Given the description of an element on the screen output the (x, y) to click on. 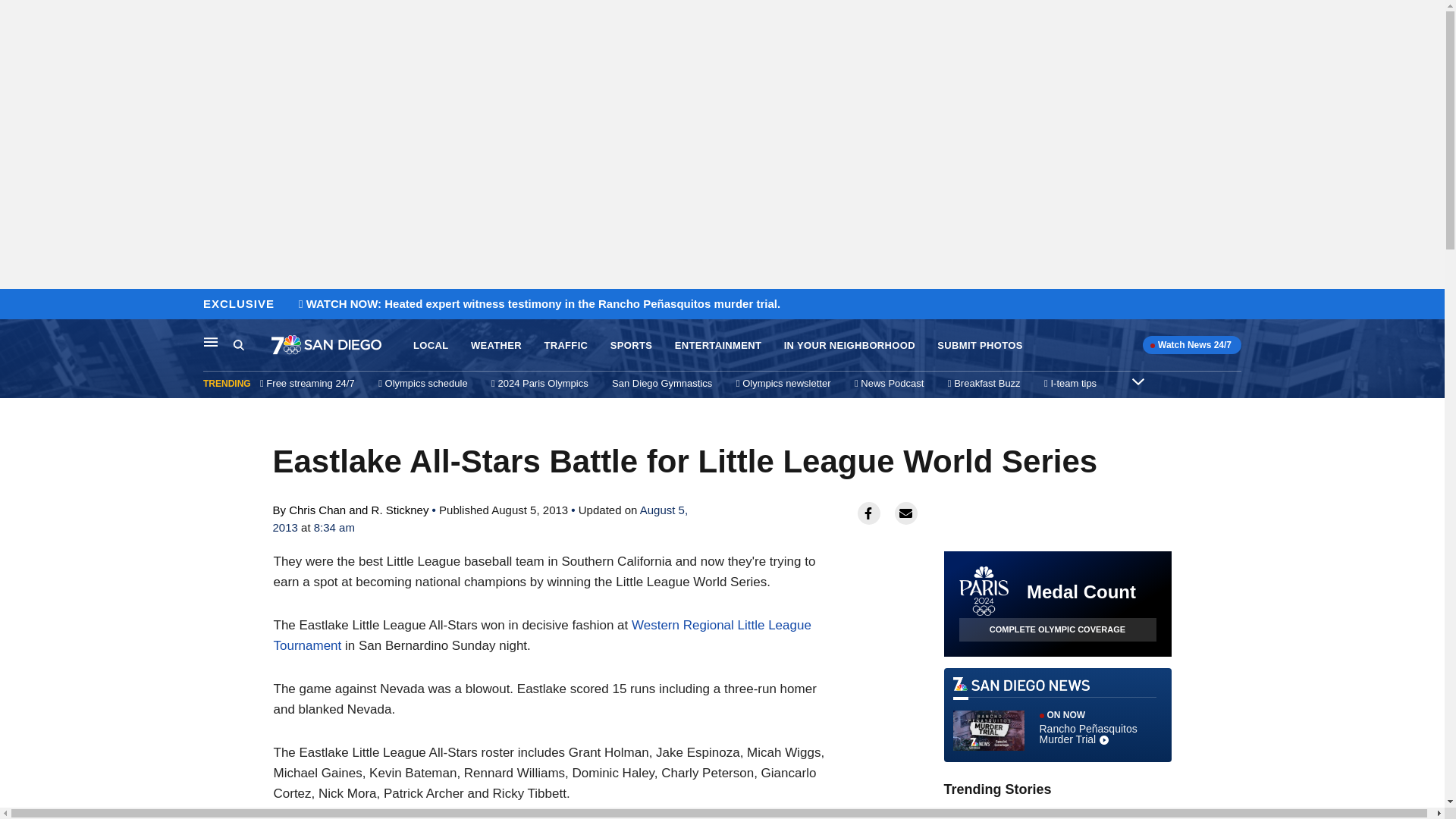
Search (238, 344)
LOCAL (430, 345)
Main Navigation (210, 341)
Expand (1138, 381)
TRAFFIC (565, 345)
WEATHER (495, 345)
2024 PARIS OLYMPICS (1069, 811)
Skip to content (16, 304)
ENTERTAINMENT (718, 345)
Western Regional Little League Tournament (541, 635)
